Given the description of an element on the screen output the (x, y) to click on. 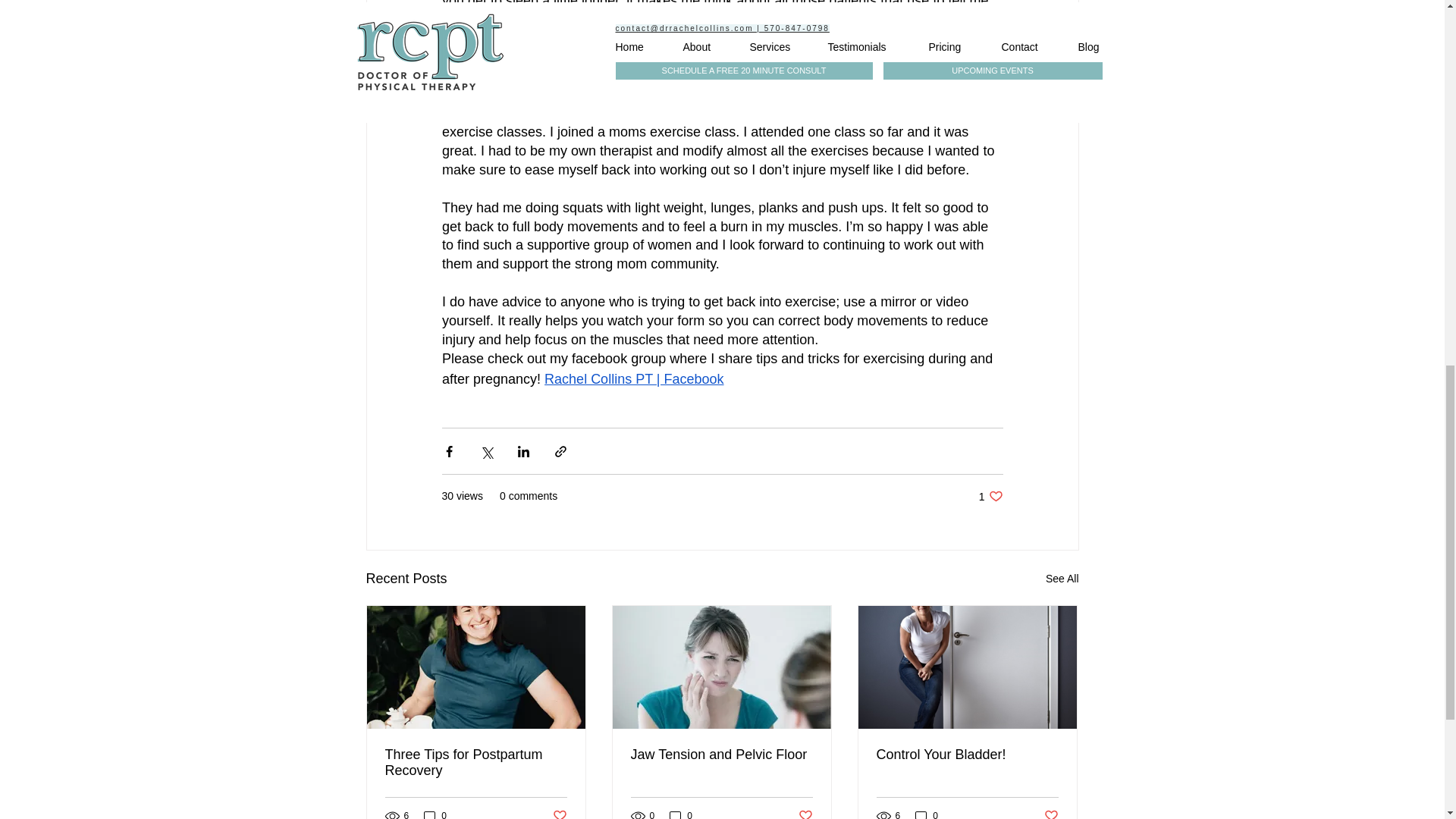
0 (681, 814)
See All (1061, 578)
Control Your Bladder! (967, 754)
0 (990, 495)
Post not marked as liked (926, 814)
Three Tips for Postpartum Recovery (1050, 813)
Jaw Tension and Pelvic Floor (476, 762)
Post not marked as liked (721, 754)
0 (558, 813)
